Given the description of an element on the screen output the (x, y) to click on. 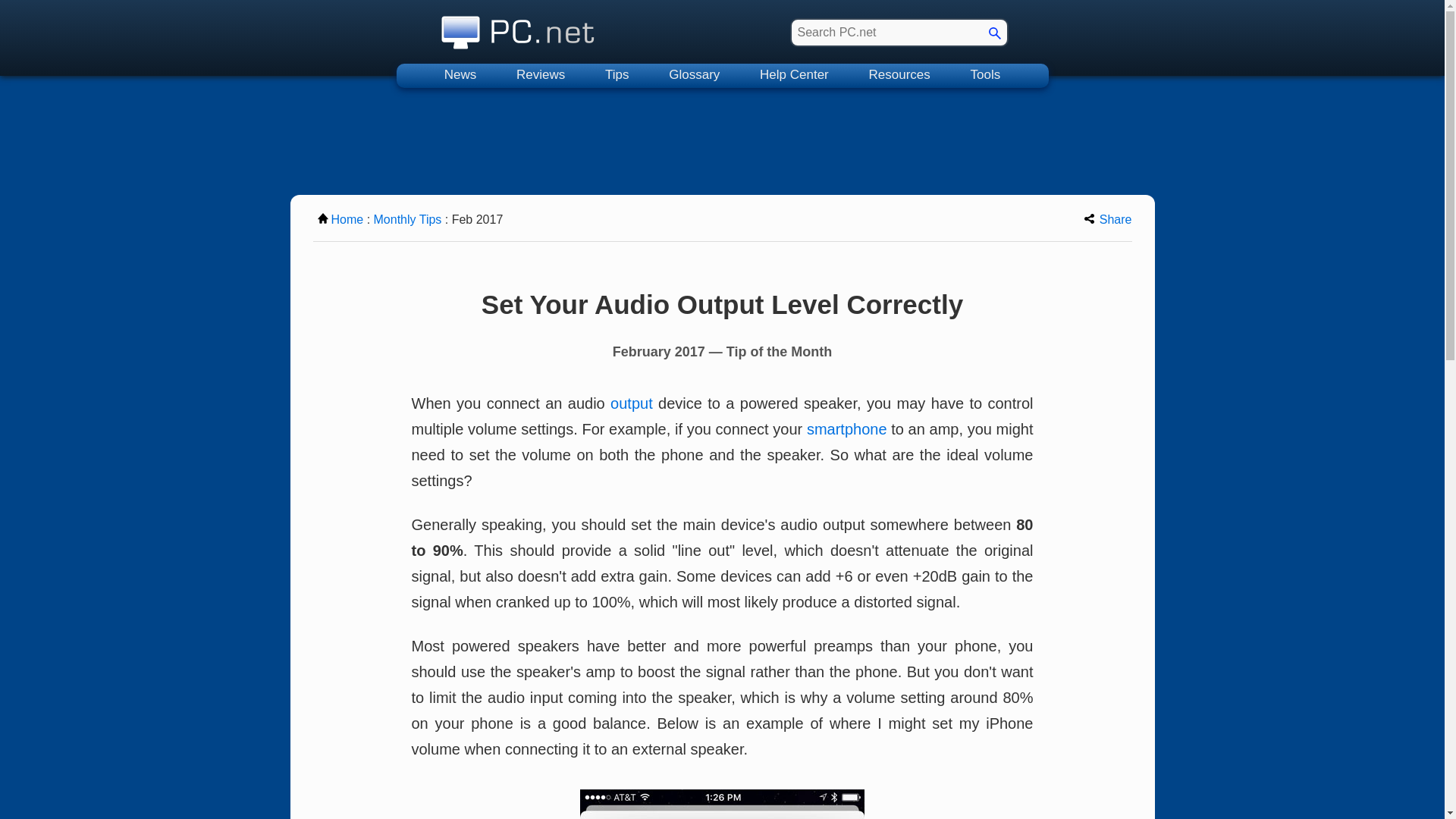
output (631, 402)
PC.net (517, 28)
Monthly Tips (408, 219)
Glossary (694, 75)
Home (340, 219)
Help Center (794, 75)
smartphone (846, 428)
Tips (616, 75)
Share (1108, 219)
News (460, 75)
Tools (985, 75)
Resources (899, 75)
Reviews (540, 75)
